Given the description of an element on the screen output the (x, y) to click on. 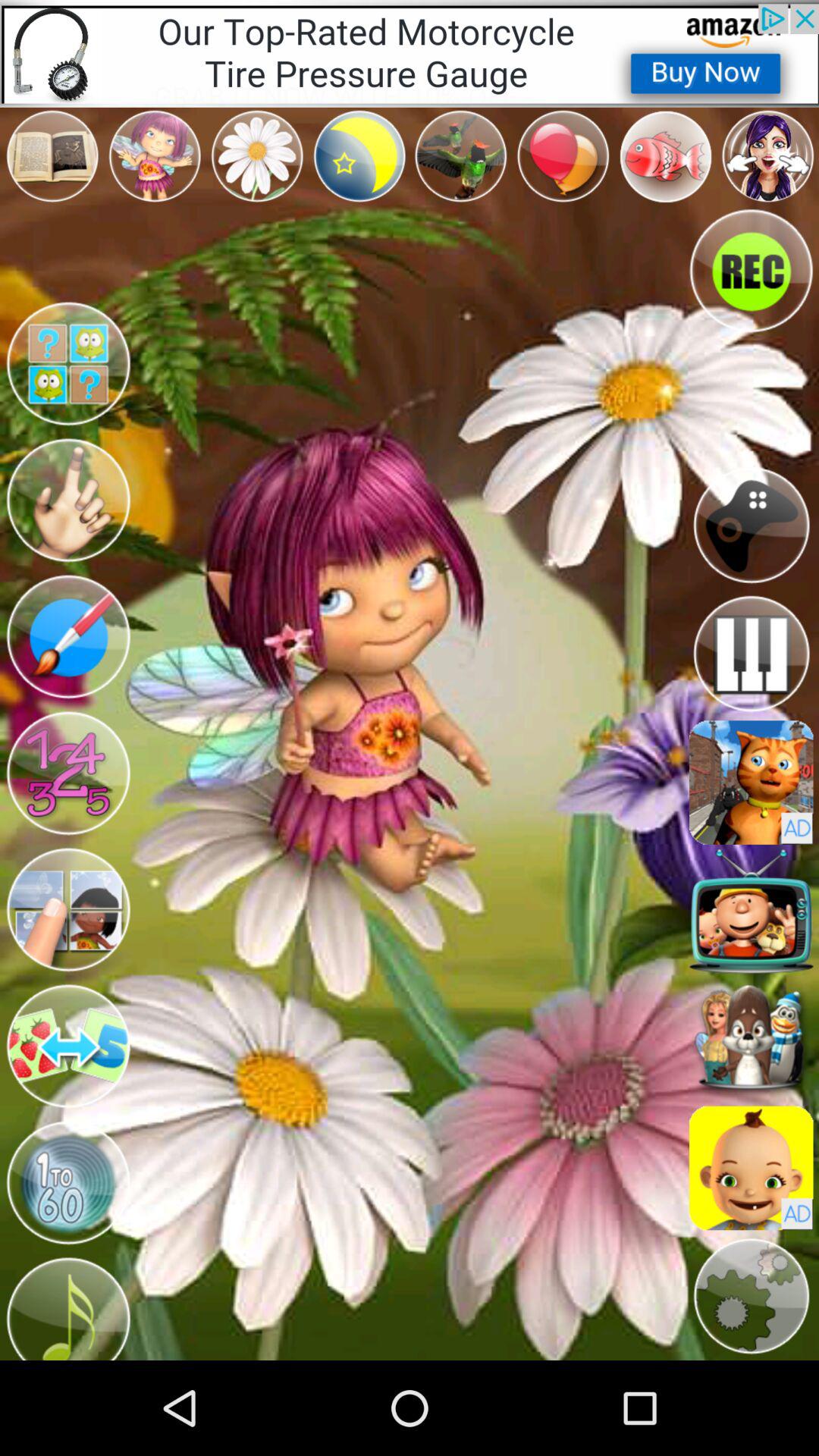
open tool (68, 636)
